Given the description of an element on the screen output the (x, y) to click on. 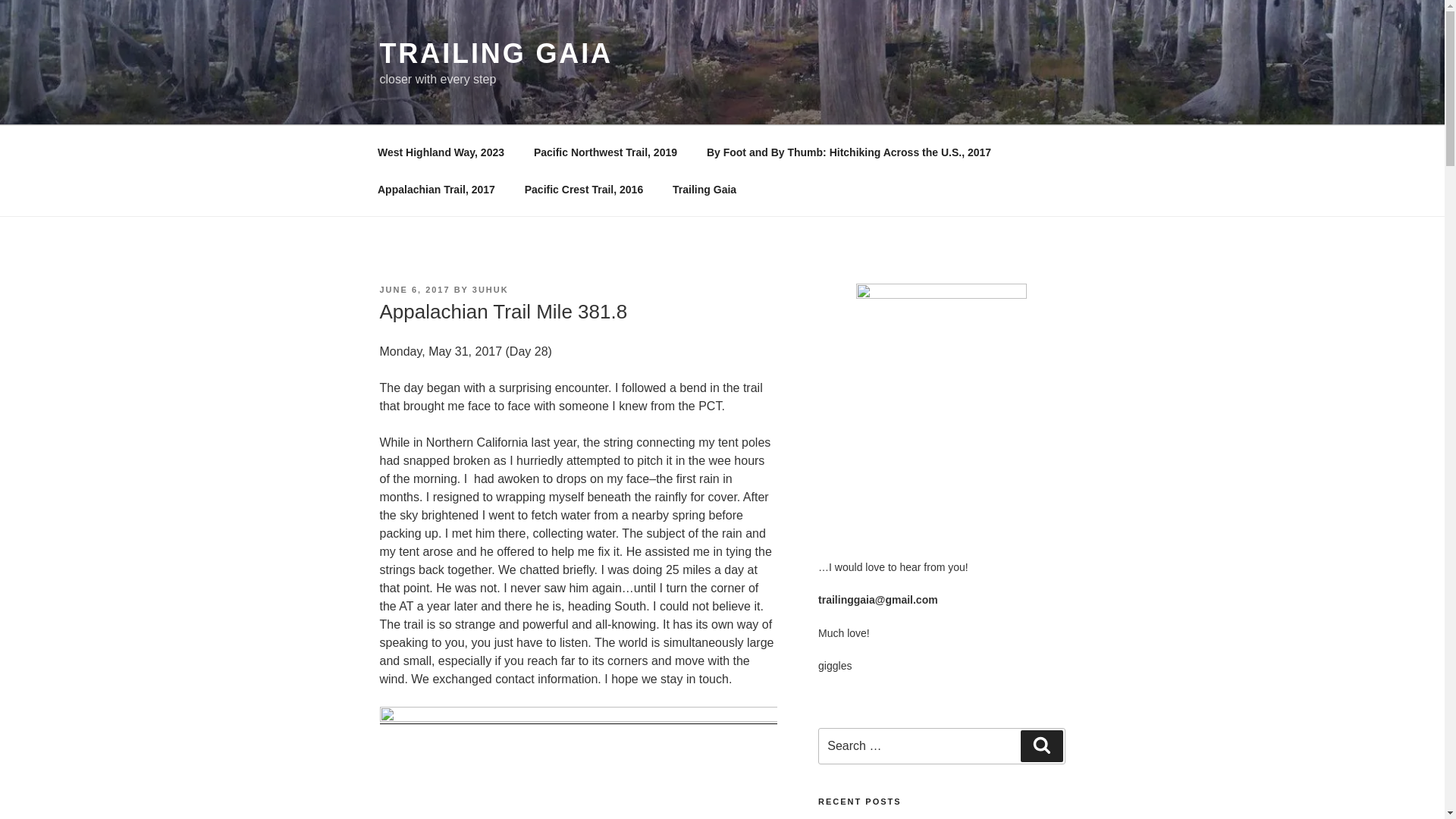
Search (1041, 746)
JUNE 6, 2017 (413, 289)
West Highland Way, 2023 (440, 151)
Appalachian Trail, 2017 (436, 189)
Trailing Gaia (704, 189)
3UHUK (489, 289)
Pacific Northwest Trail, 2019 (604, 151)
By Foot and By Thumb: Hitchiking Across the U.S., 2017 (848, 151)
Pacific Crest Trail, 2016 (583, 189)
TRAILING GAIA (494, 52)
